Given the description of an element on the screen output the (x, y) to click on. 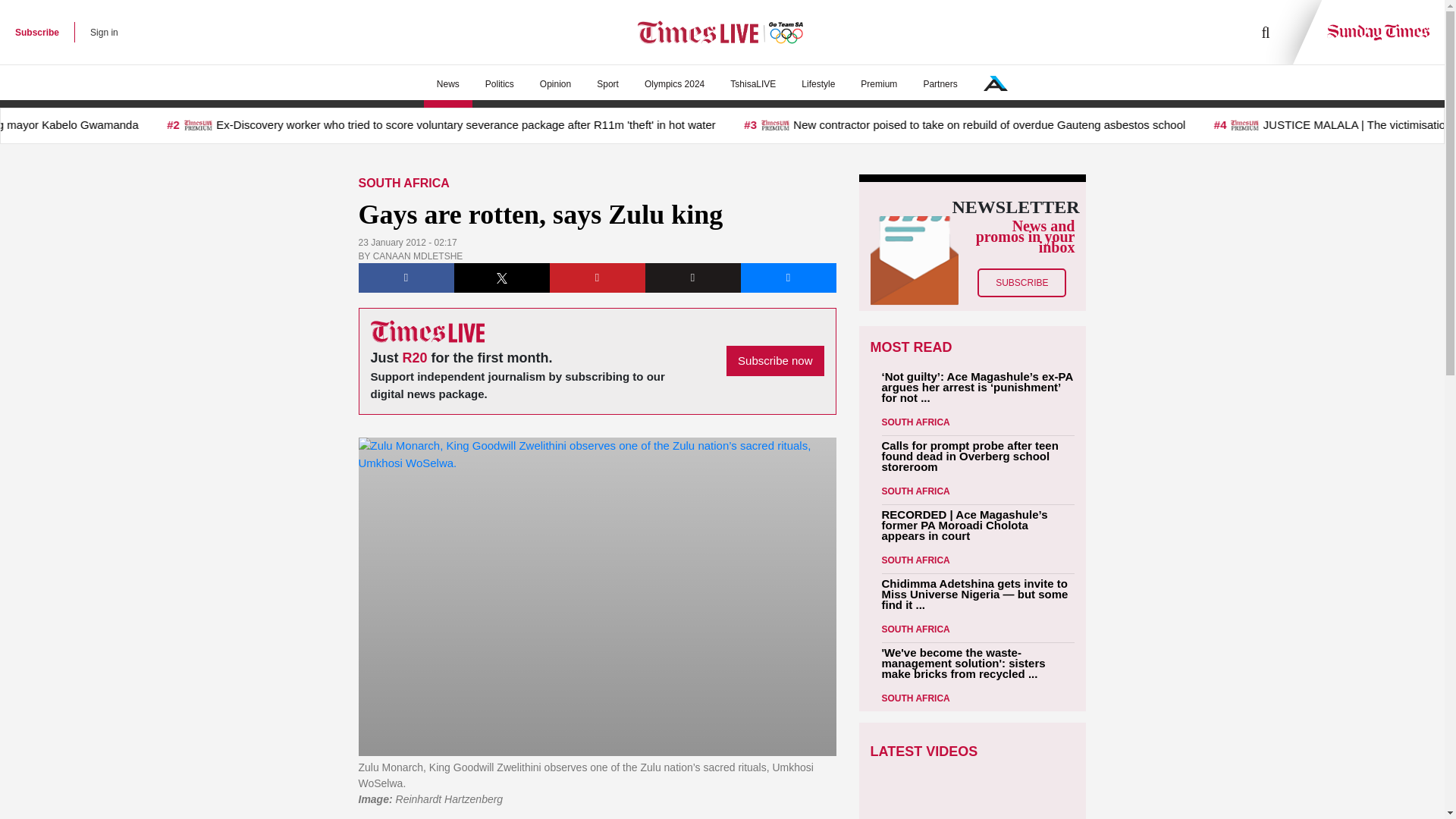
Opinion (555, 84)
Our Network (995, 83)
Subscribe (36, 32)
Premium (878, 84)
Sport (607, 84)
TshisaLIVE (753, 84)
Sign in (103, 32)
Olympics 2024 (674, 84)
Politics (499, 84)
News (447, 84)
